Given the description of an element on the screen output the (x, y) to click on. 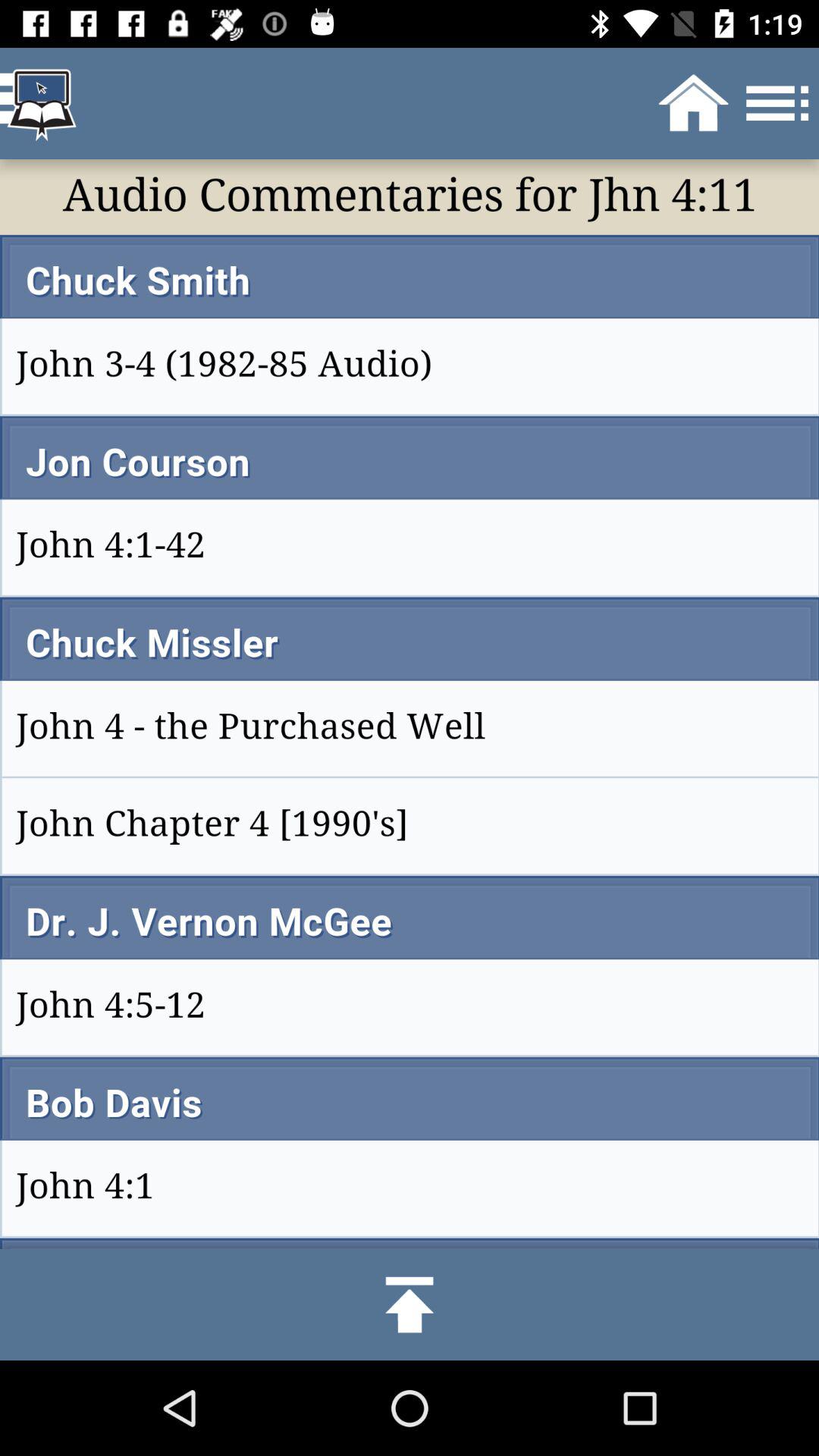
click to upload (409, 1304)
